Given the description of an element on the screen output the (x, y) to click on. 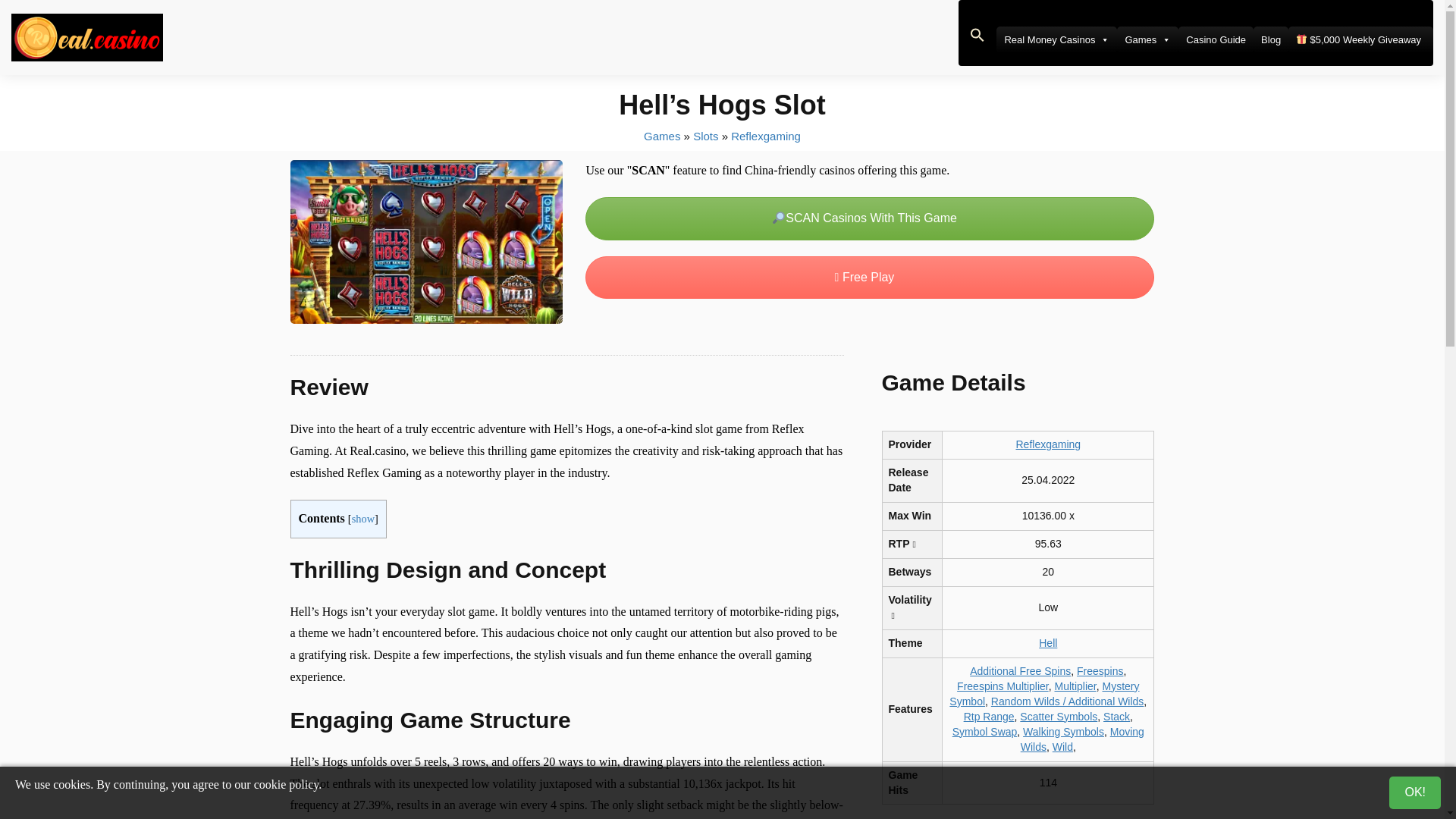
Online Slots (705, 135)
Reflexgaming Slots (765, 135)
Online Casino Games (661, 135)
Games (1146, 39)
Real Money Casinos (1055, 39)
